Given the description of an element on the screen output the (x, y) to click on. 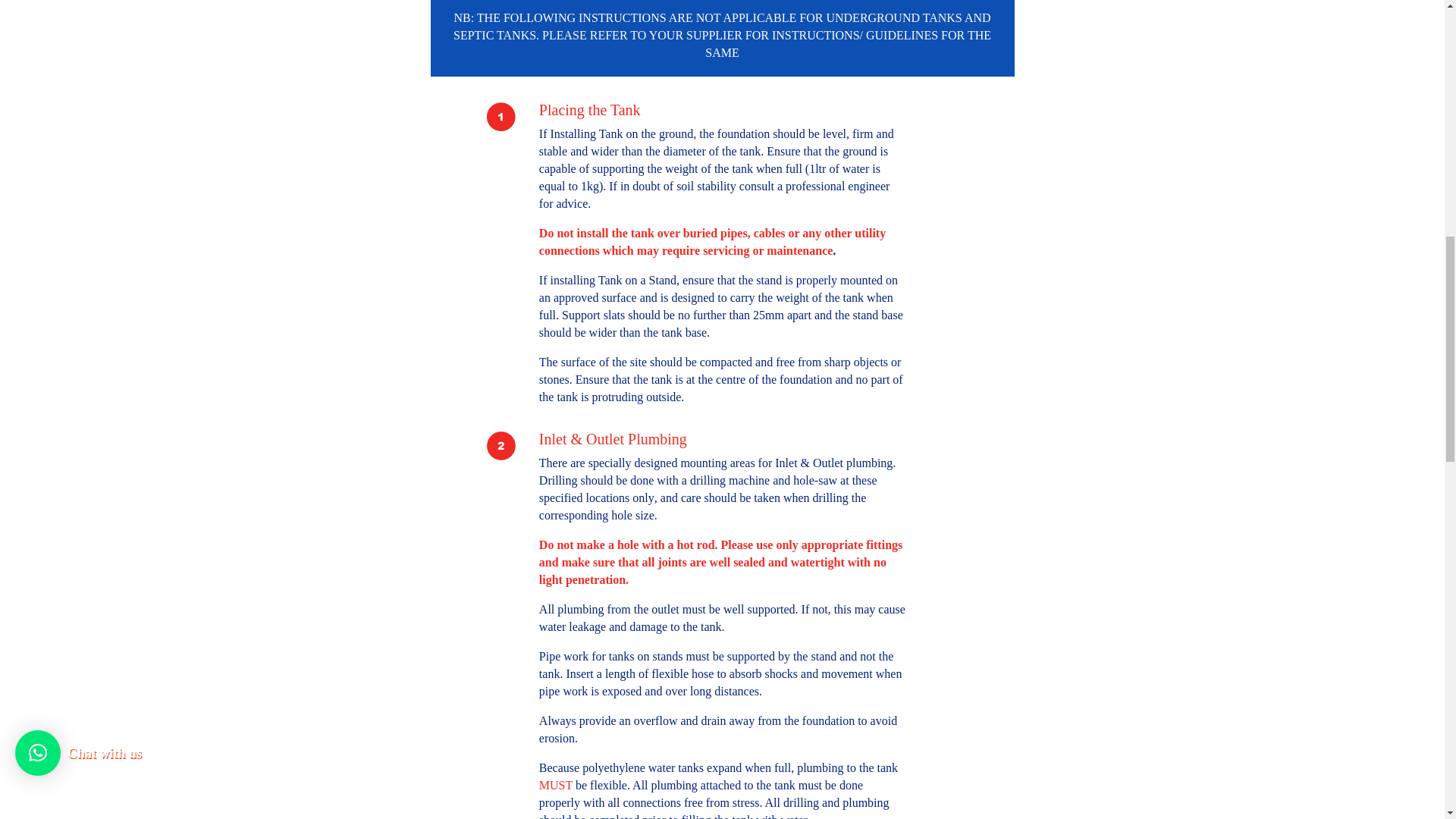
icon1 (500, 115)
icon2 (500, 445)
